Given the description of an element on the screen output the (x, y) to click on. 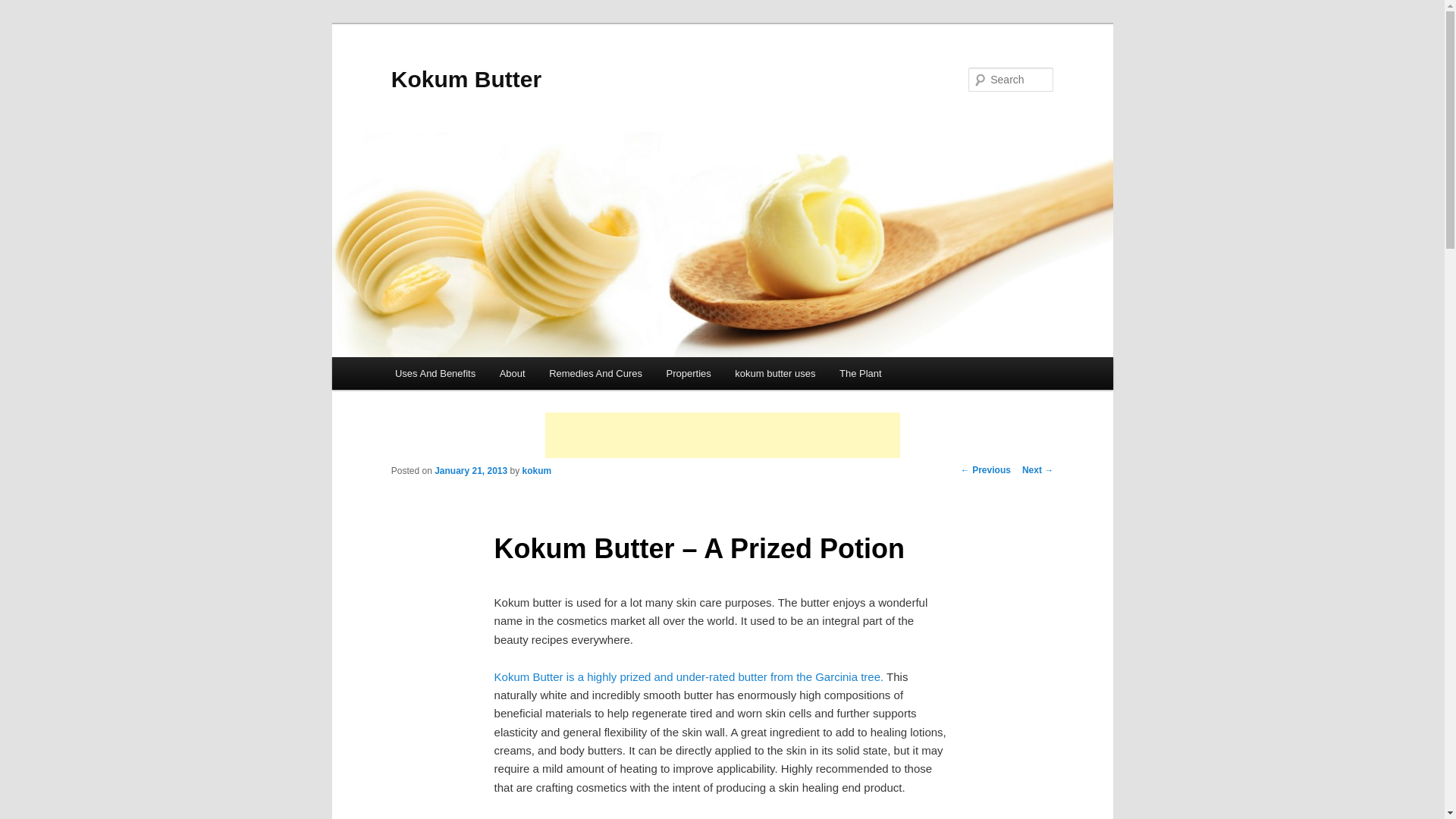
About (512, 373)
Skip to secondary content (470, 375)
View all posts by kokum (536, 470)
Kokum Butter (466, 78)
The Plant (860, 373)
Skip to primary content (463, 375)
Properties (688, 373)
Skip to secondary content (470, 375)
Advertisement (721, 434)
12:07 pm (469, 470)
kokum (536, 470)
Remedies And Cures (595, 373)
Skip to primary content (463, 375)
January 21, 2013 (469, 470)
Kokum Butter (466, 78)
